Given the description of an element on the screen output the (x, y) to click on. 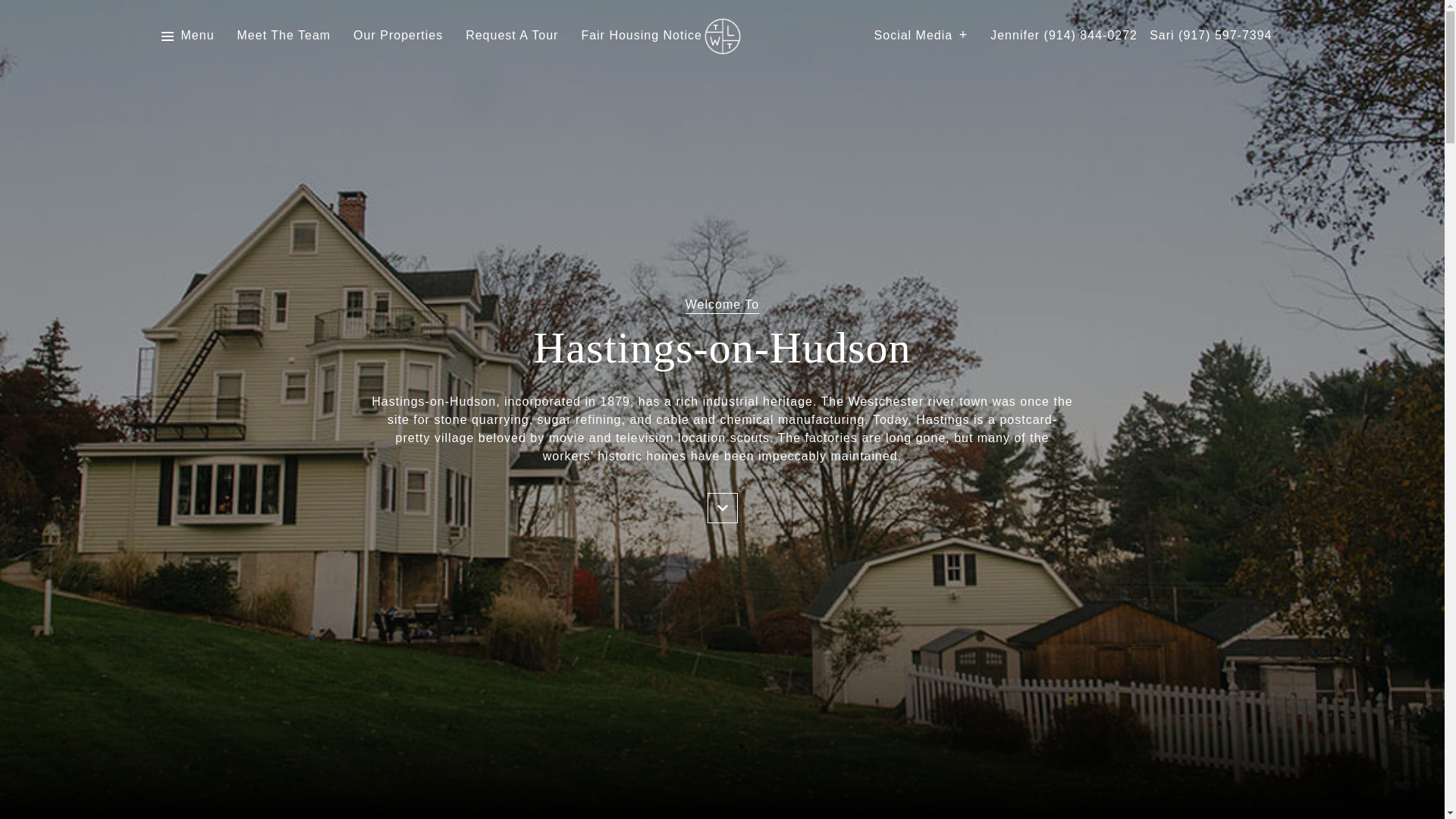
Menu (197, 35)
Social Media (921, 35)
Our Properties (397, 35)
Fair Housing Notice (640, 35)
Menu (187, 35)
Meet The Team (284, 35)
Request A Tour (511, 35)
